Given the description of an element on the screen output the (x, y) to click on. 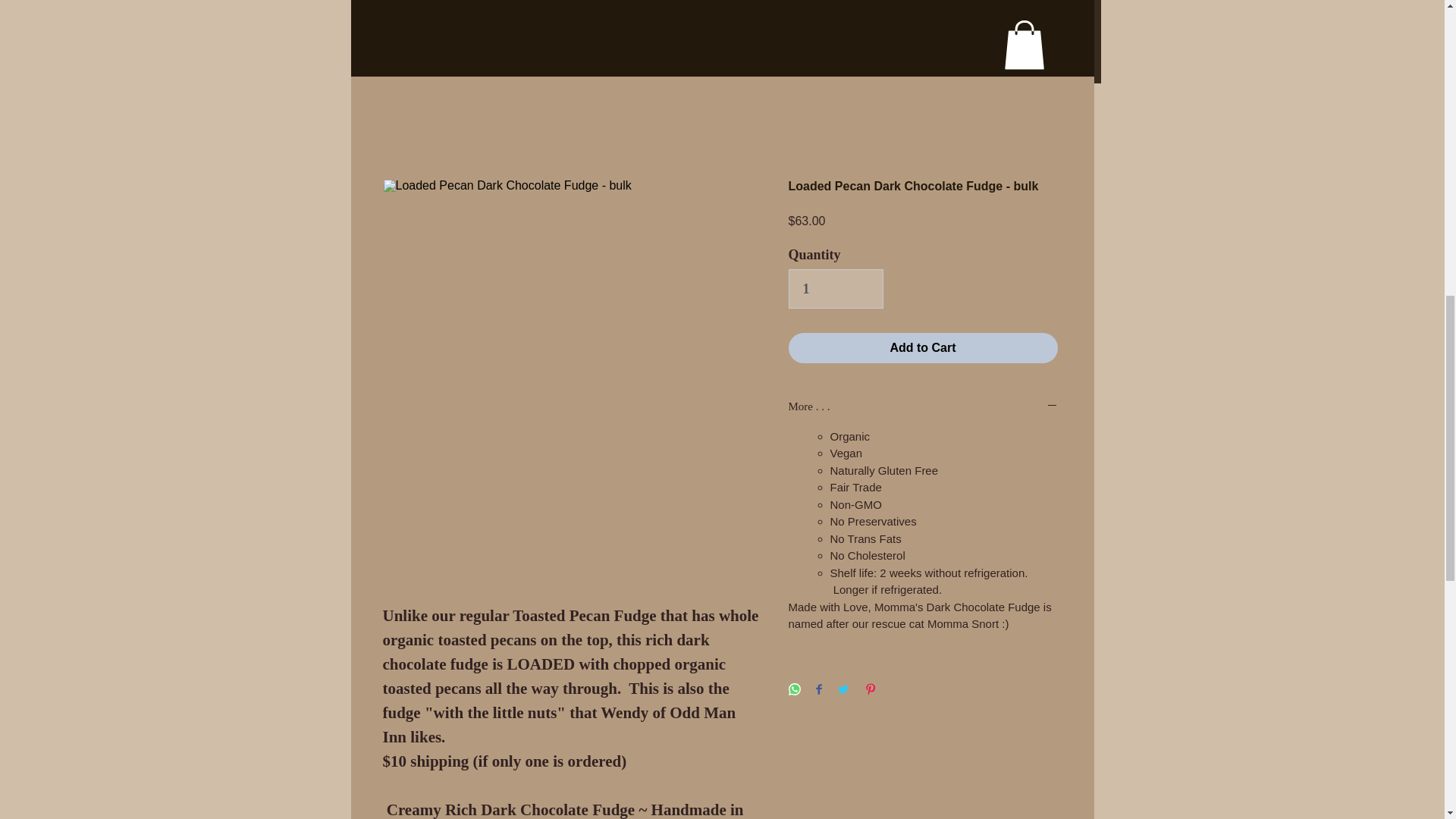
1 (836, 288)
Add to Cart (923, 347)
More . . . (923, 407)
